Given the description of an element on the screen output the (x, y) to click on. 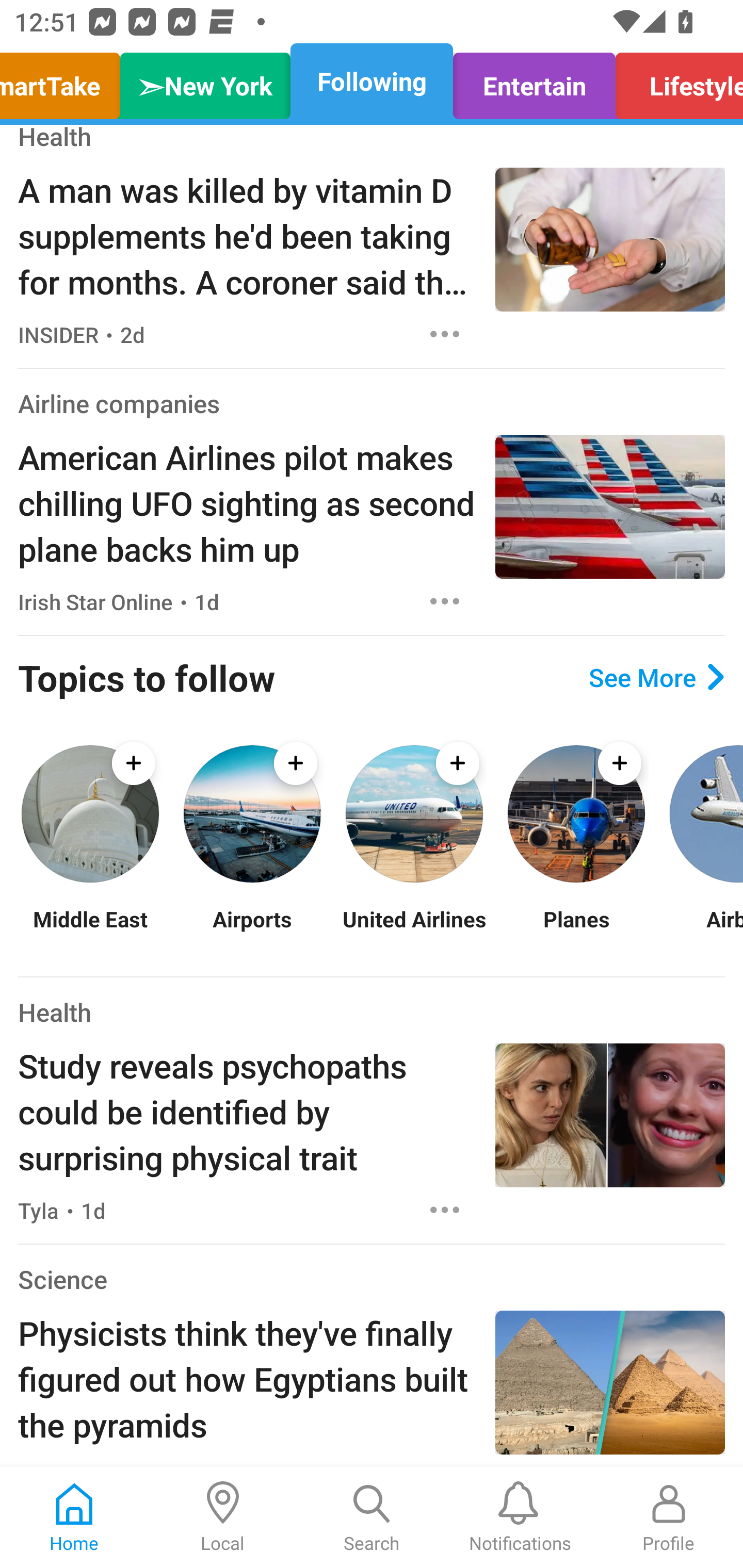
➣New York (205, 81)
Following (371, 81)
Entertain (534, 81)
Health (54, 139)
Options (444, 333)
Airline companies (118, 402)
Options (444, 601)
See More (656, 677)
Middle East (89, 931)
Airports (251, 931)
United Airlines (413, 931)
Planes (575, 931)
Health (54, 1011)
Options (444, 1210)
Science (61, 1279)
Local (222, 1517)
Search (371, 1517)
Notifications (519, 1517)
Profile (668, 1517)
